Given the description of an element on the screen output the (x, y) to click on. 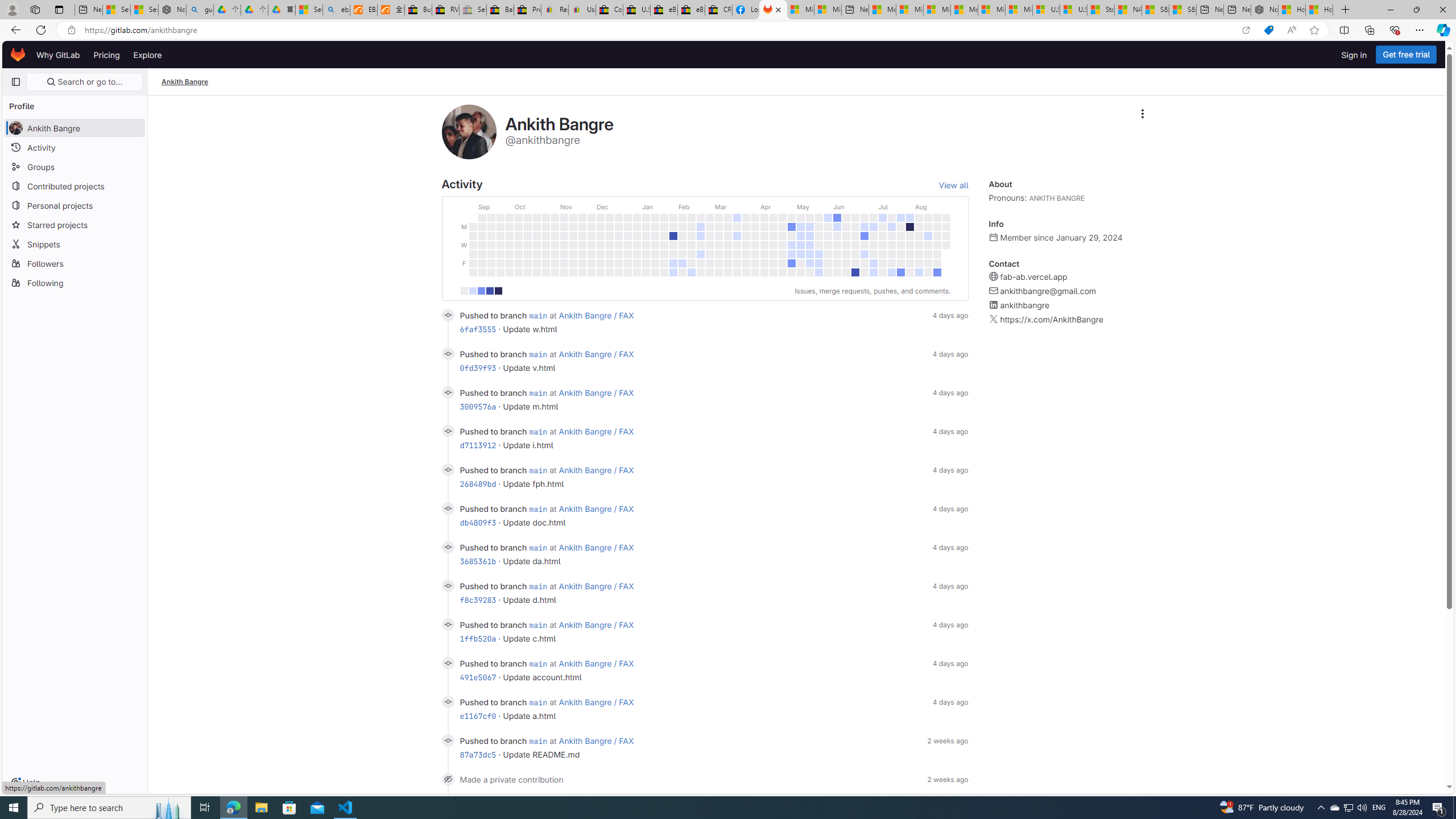
Explore (146, 54)
